Given the description of an element on the screen output the (x, y) to click on. 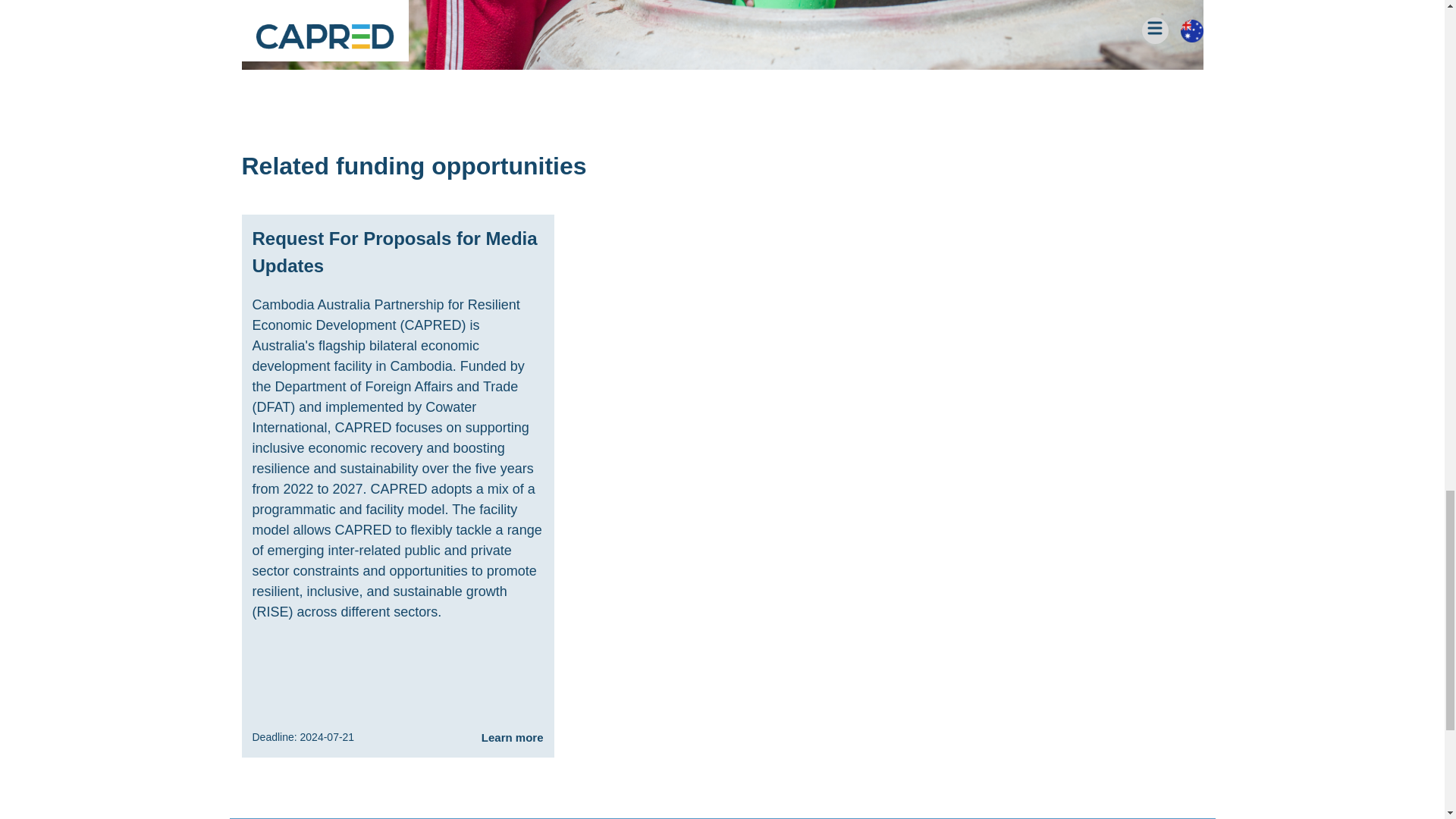
Learn more (512, 737)
